Given the description of an element on the screen output the (x, y) to click on. 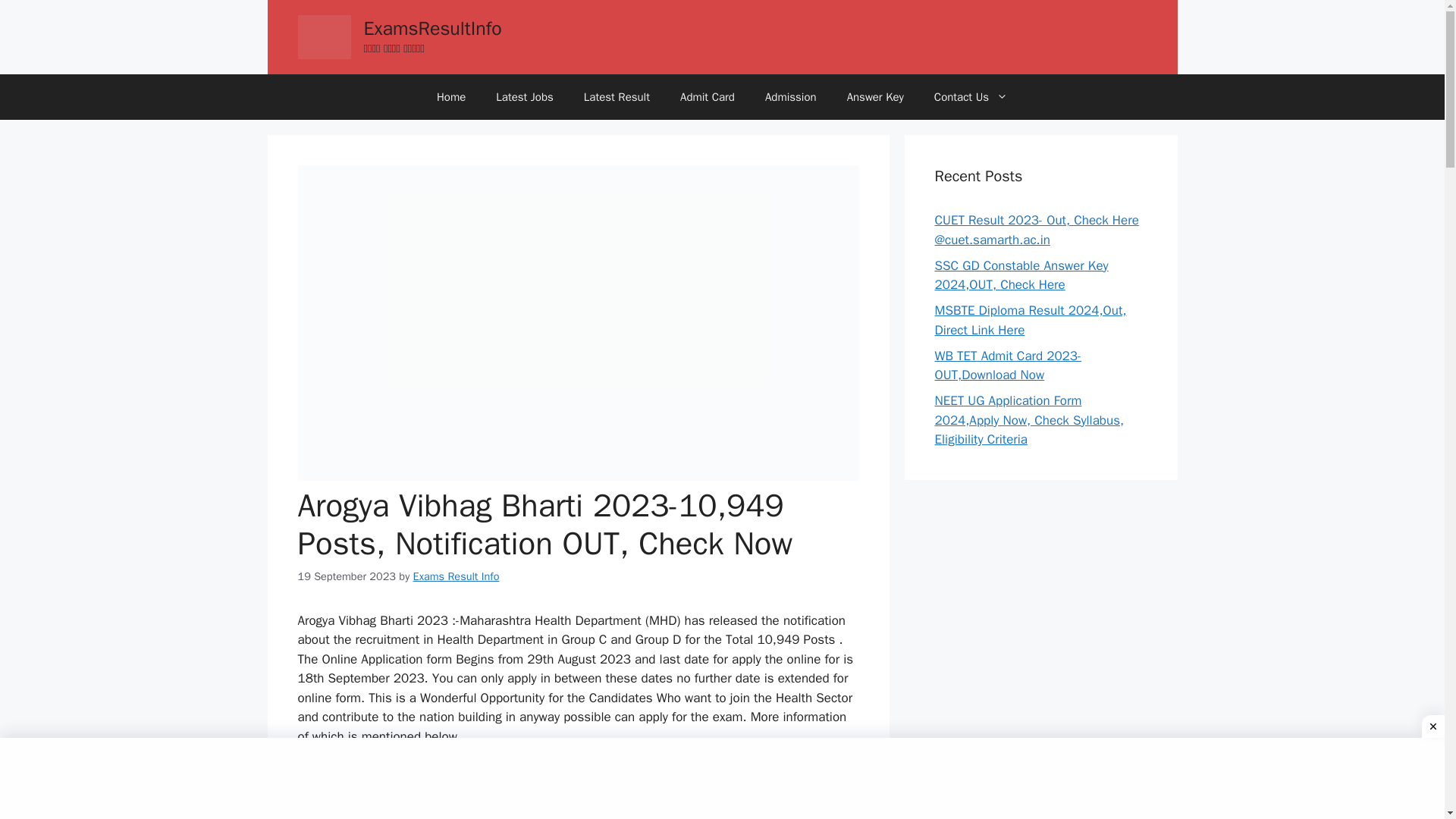
WB TET Admit Card 2023-OUT,Download Now (1007, 366)
ExamsResultInfo (433, 28)
Contact Us (970, 96)
Answer Key (874, 96)
Exams Result Info (456, 576)
SSC GD Constable Answer Key 2024,OUT, Check Here (1021, 275)
Admission (790, 96)
Admit Card (707, 96)
Latest Result (617, 96)
View all posts by Exams Result Info (456, 576)
